Given the description of an element on the screen output the (x, y) to click on. 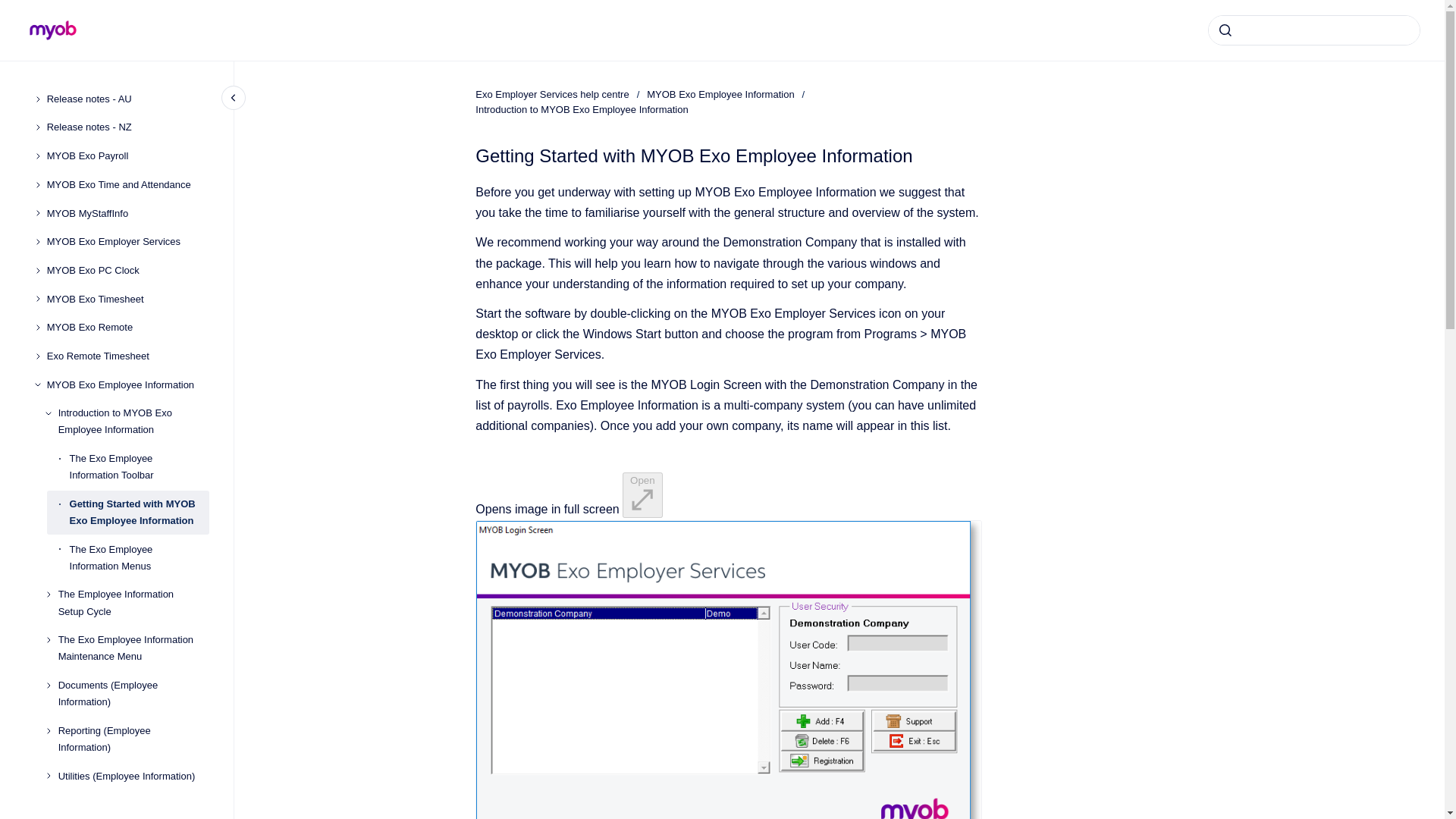
The Exo Employee Information Maintenance Menu (133, 648)
The Exo Employee Information Menus (139, 557)
Exo Remote Timesheet (127, 356)
MYOB Exo Remote (127, 327)
MYOB Exo Employee Information (127, 384)
The Exo Employee Information Toolbar (139, 466)
Getting Started with MYOB Exo Employee Information (139, 512)
MYOB Exo Timesheet (127, 298)
MYOB MyStaffInfo (127, 213)
MYOB Exo Payroll (127, 155)
MYOB Exo Employer Services (127, 241)
The Employee Information Setup Cycle (133, 603)
Introduction to MYOB Exo Employee Information (133, 422)
Release notes - AU (127, 99)
Release notes - NZ (127, 127)
